Given the description of an element on the screen output the (x, y) to click on. 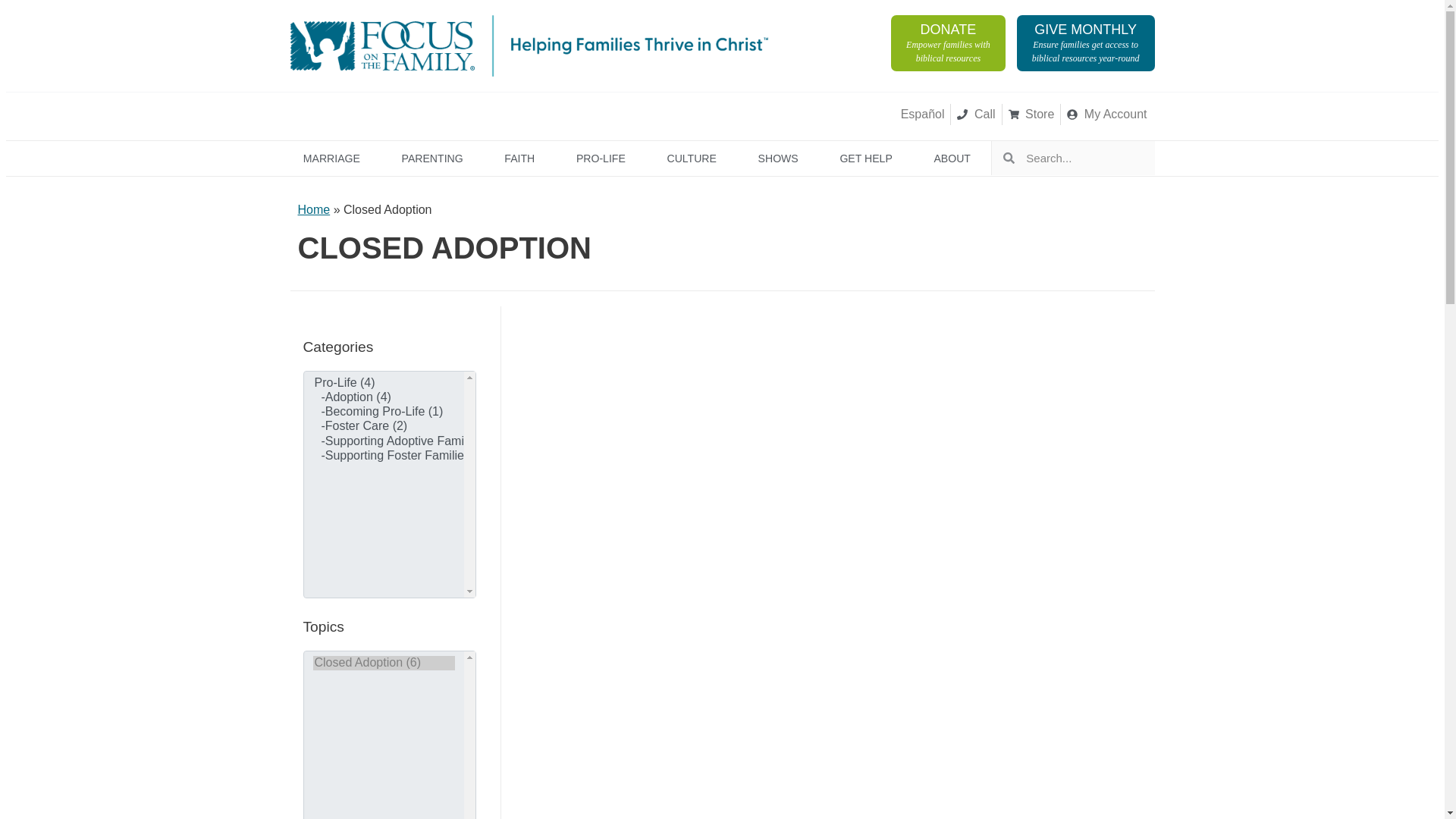
Store (1031, 114)
PARENTING (431, 158)
MARRIAGE (948, 43)
Call (331, 158)
PRO-LIFE (975, 114)
Brio (601, 158)
Adventures in Odyssey (550, 113)
My Account (316, 114)
